Given the description of an element on the screen output the (x, y) to click on. 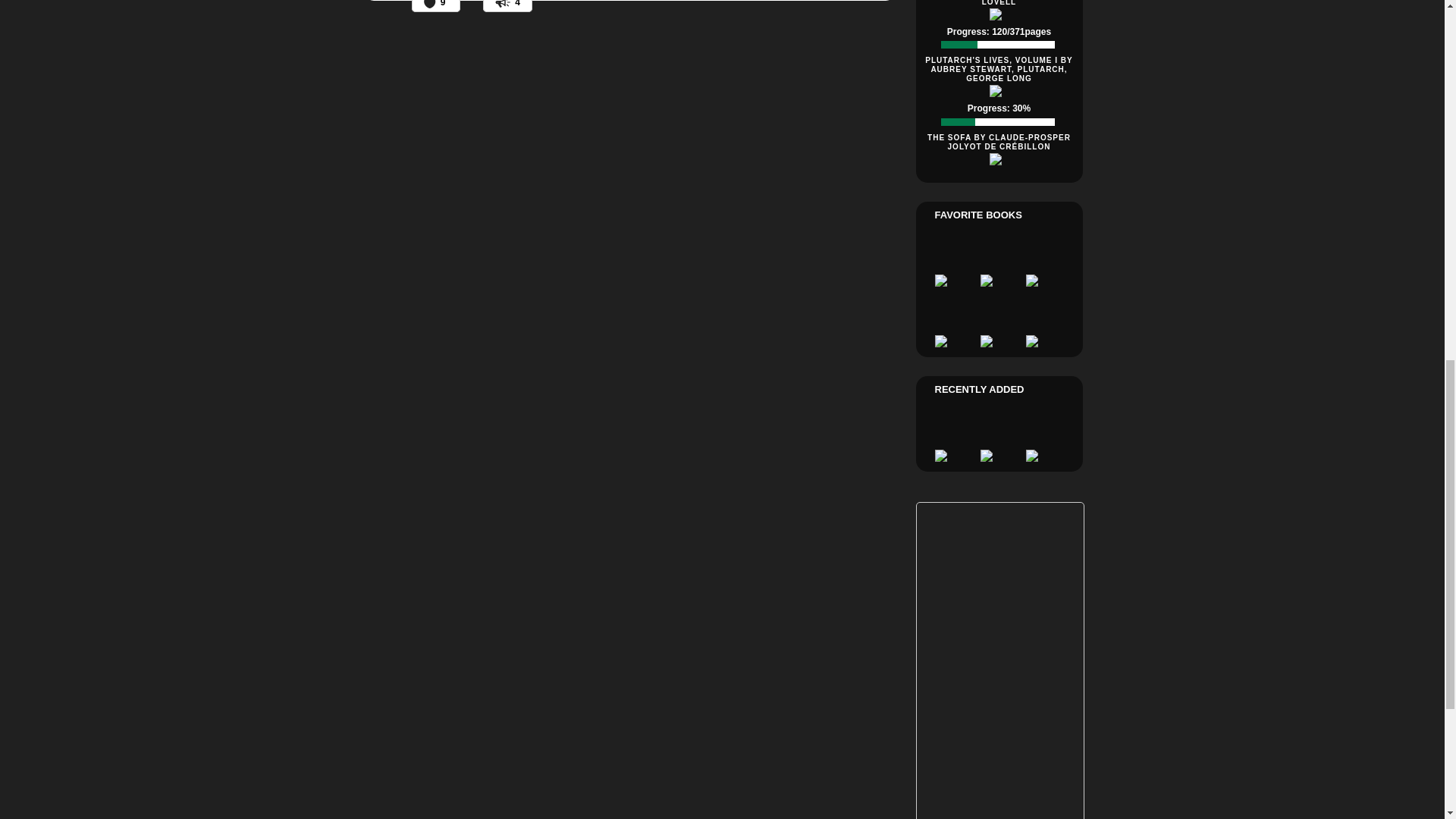
FAVORITE BOOKS (978, 214)
